Given the description of an element on the screen output the (x, y) to click on. 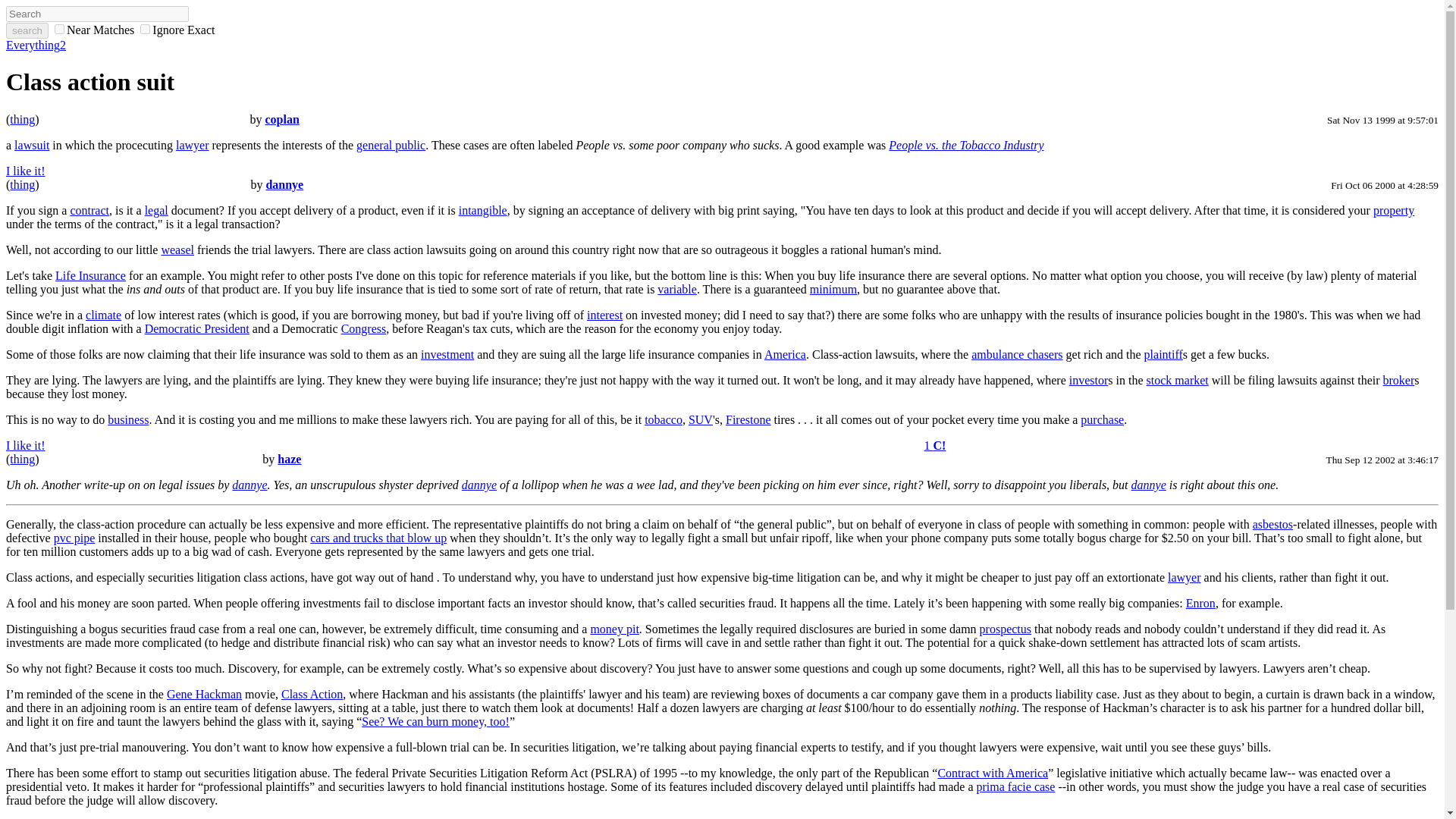
lawyer (192, 144)
legal (156, 210)
coplan (281, 119)
Life Insurance (90, 275)
lawsuit (31, 144)
stock market (1177, 379)
general public (390, 144)
contract (89, 210)
Include near matches in the search results (91, 29)
Democratic President (196, 328)
